Given the description of an element on the screen output the (x, y) to click on. 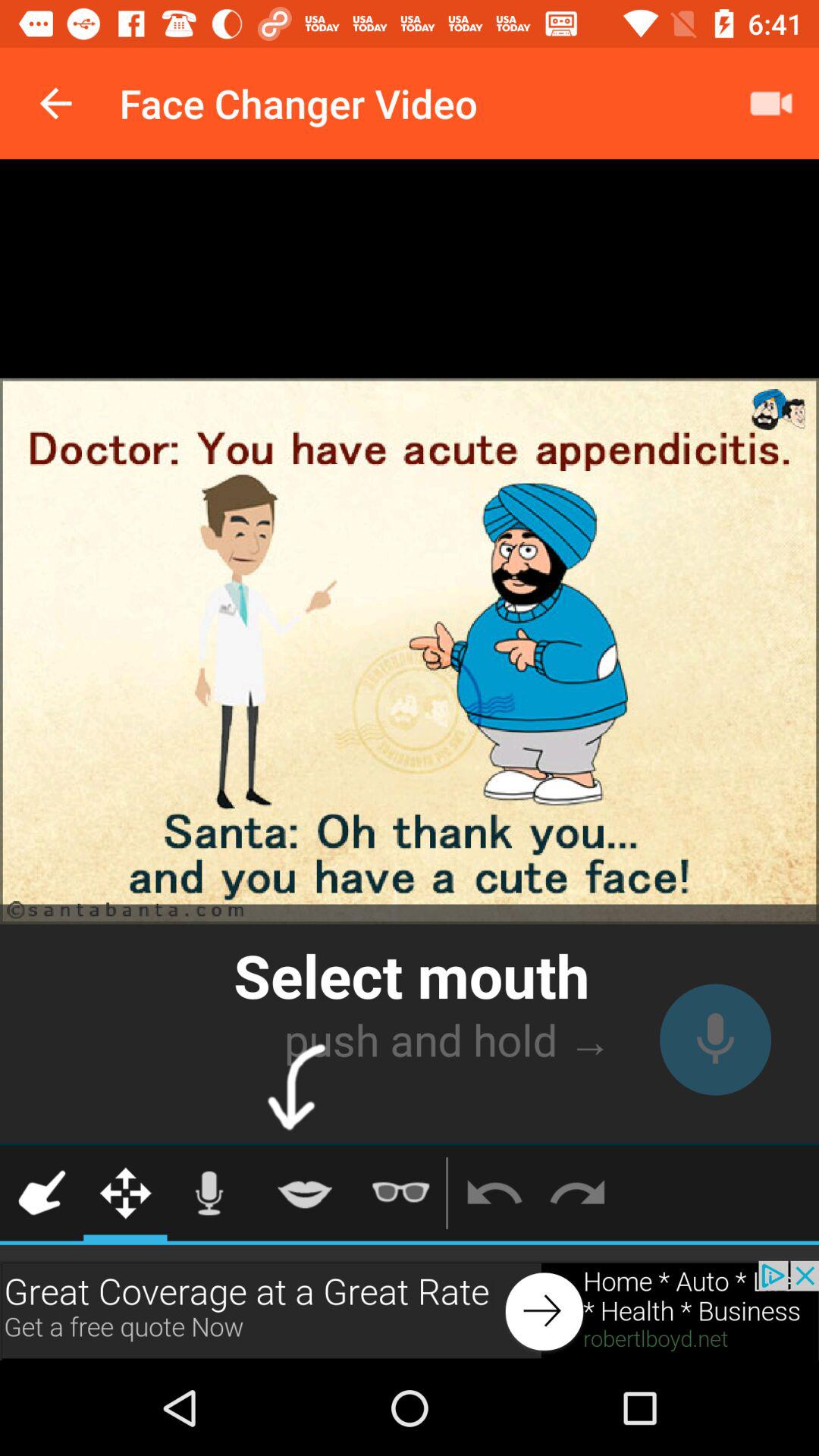
click the advertisement (409, 1310)
